Given the description of an element on the screen output the (x, y) to click on. 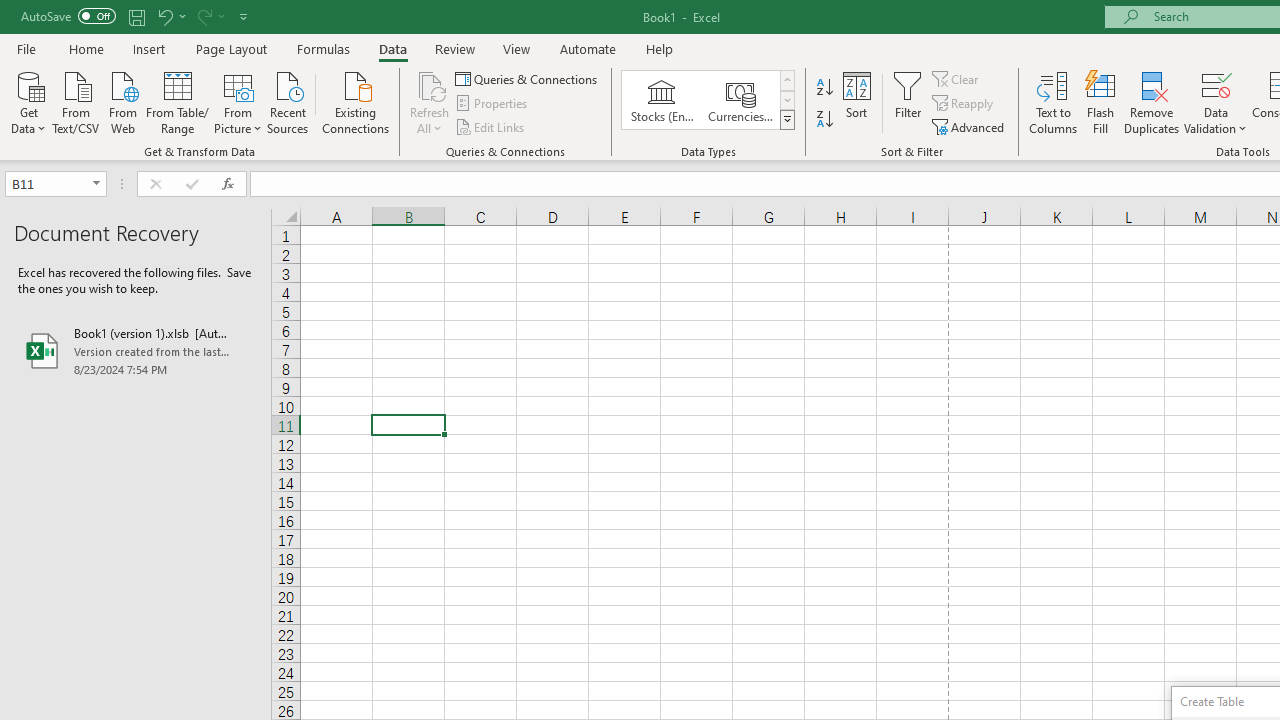
Clear (957, 78)
Automate (588, 48)
Remove Duplicates (1151, 102)
Sort Z to A (824, 119)
Filter (908, 102)
Data Types (786, 120)
Book1 (version 1).xlsb  [AutoRecovered] (136, 350)
Flash Fill (1101, 102)
From Text/CSV (75, 101)
Edit Links (491, 126)
Refresh All (429, 102)
